Given the description of an element on the screen output the (x, y) to click on. 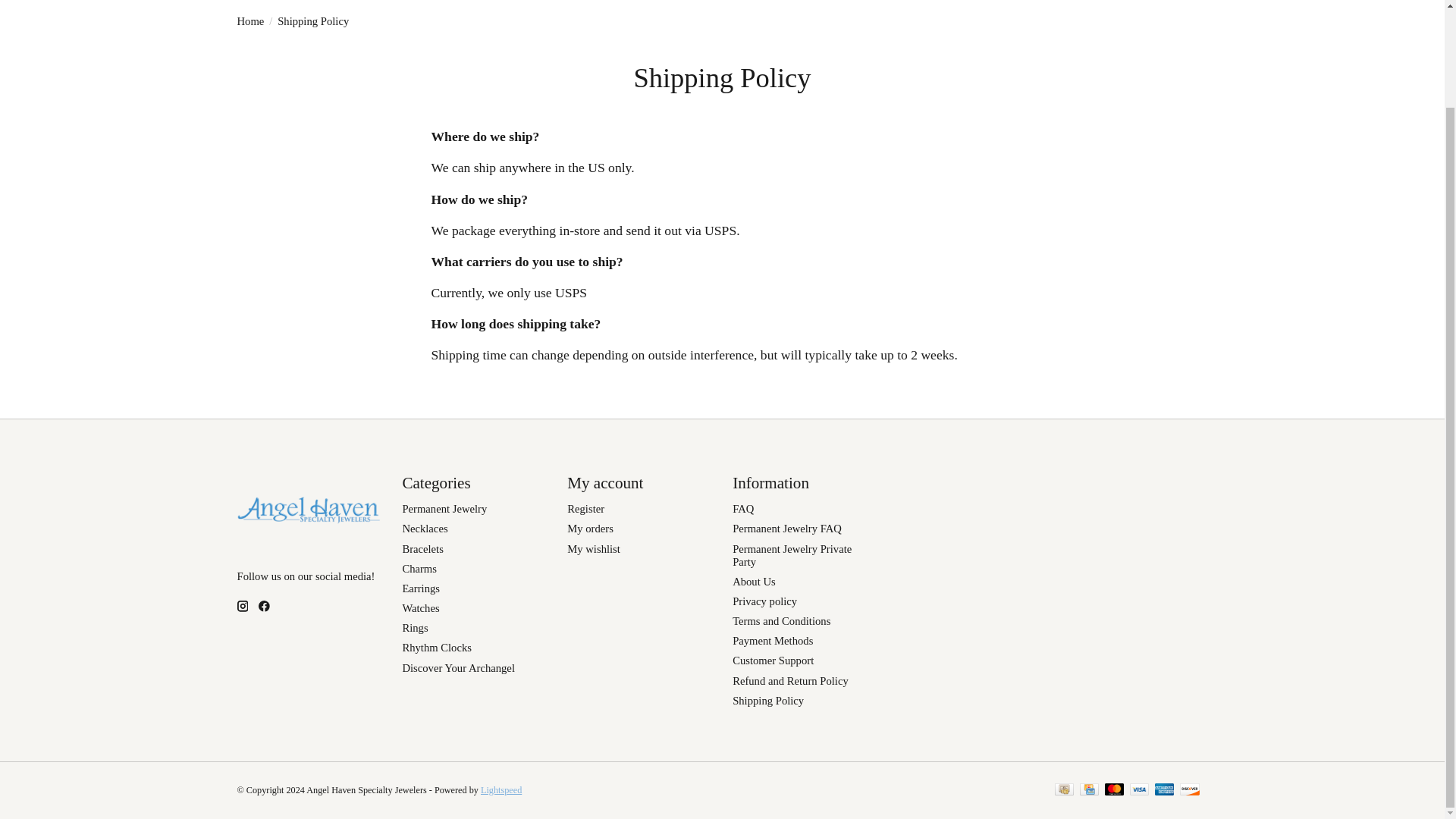
My wishlist (593, 548)
Permanent Jewelry Private Party  (791, 555)
Necklaces (423, 528)
Permanent Jewelry FAQ (786, 528)
FAQ (743, 508)
Permanent Jewelry (443, 508)
Charms (418, 568)
Privacy policy (764, 601)
About Us (754, 581)
My orders (589, 528)
